Given the description of an element on the screen output the (x, y) to click on. 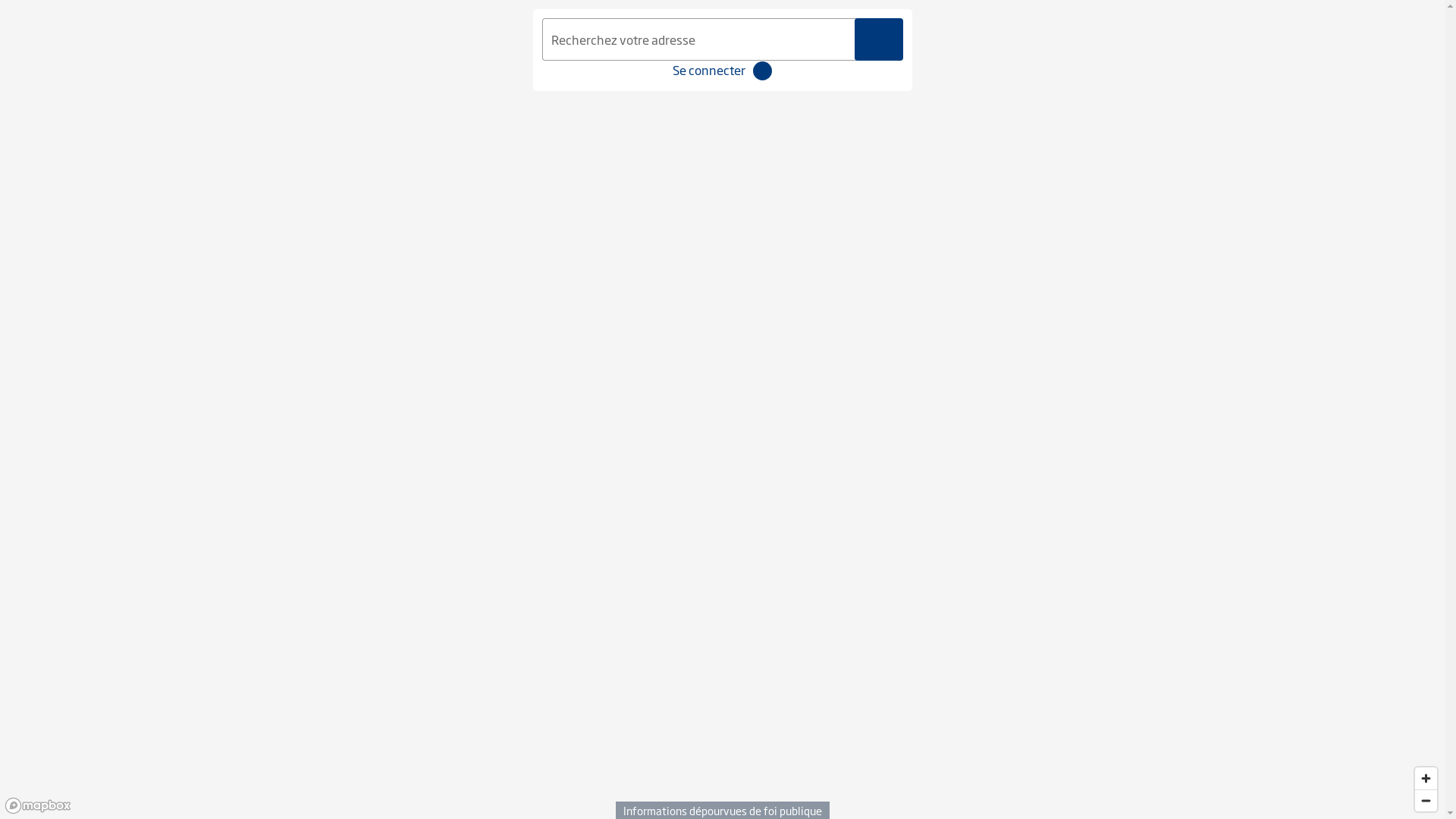
Zoom out Element type: hover (1426, 800)
Se connecter Element type: text (708, 69)
Zoom in Element type: hover (1426, 778)
